Given the description of an element on the screen output the (x, y) to click on. 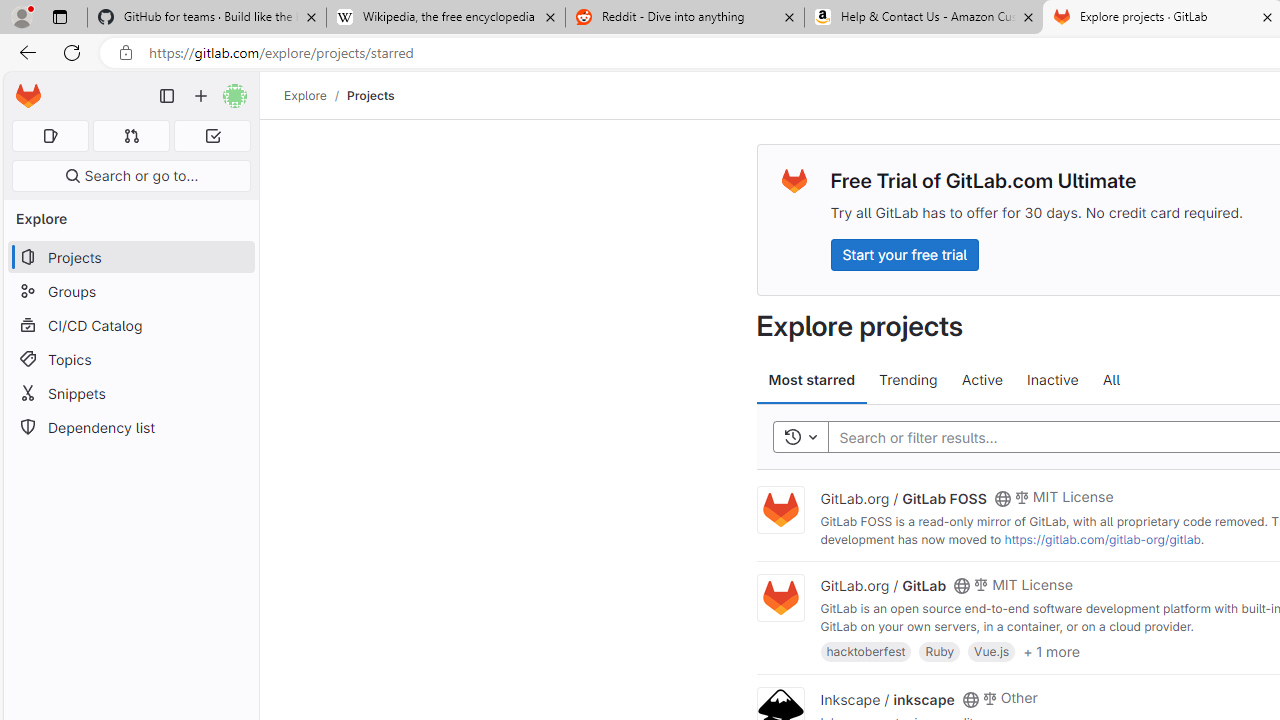
Ruby (940, 650)
GitLab.org / GitLab (883, 585)
Dependency list (130, 427)
Snippets (130, 393)
Most starred (811, 379)
Vue.js (991, 650)
To-Do list 0 (212, 136)
Groups (130, 291)
Start your free trial (904, 254)
Projects (370, 95)
Class: project (780, 597)
All (1111, 379)
Active (982, 379)
